Given the description of an element on the screen output the (x, y) to click on. 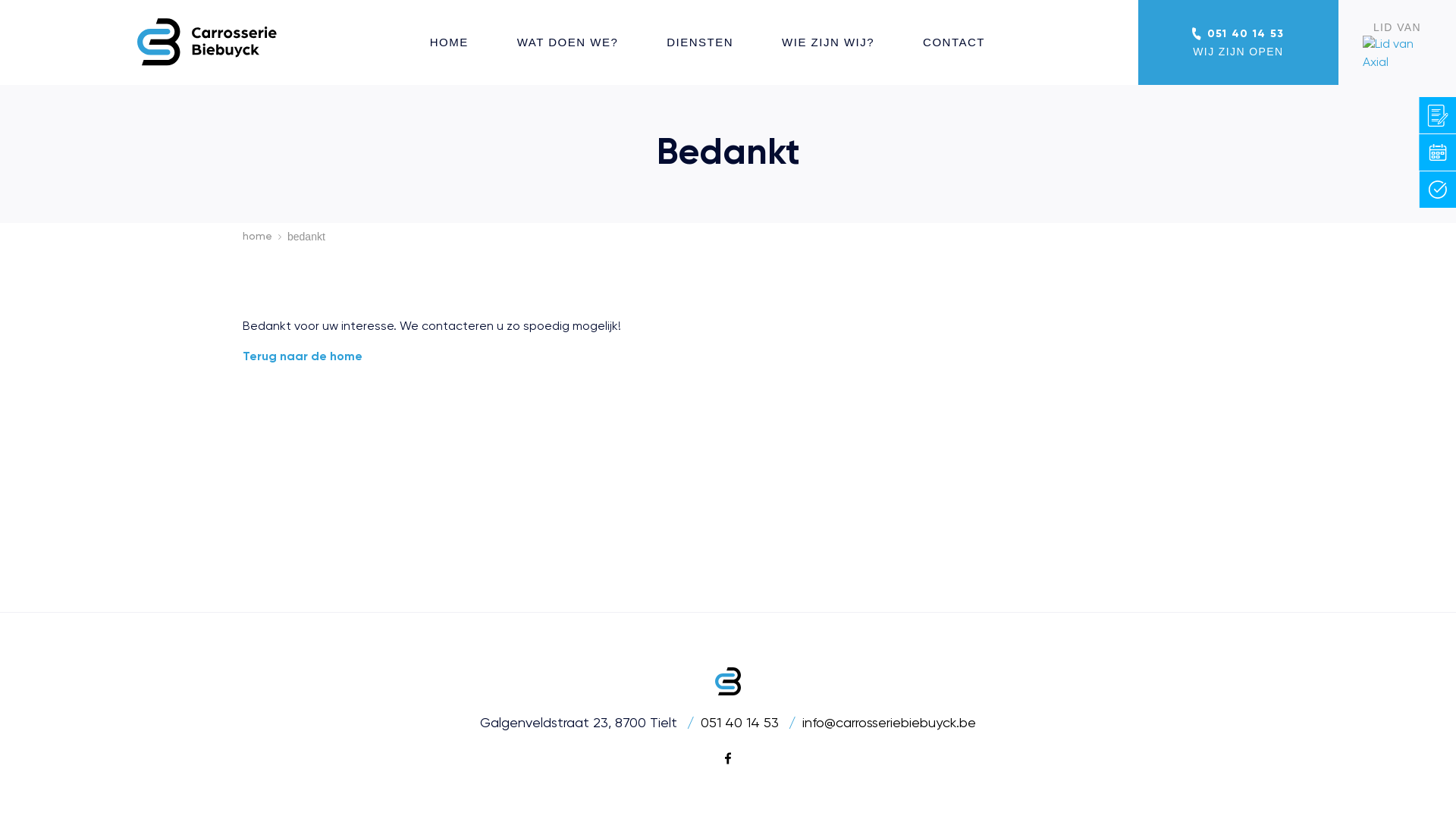
Terug naar de home Element type: text (302, 357)
home Element type: text (264, 236)
info@carrosseriebiebuyck.be Element type: text (888, 724)
WIE ZIJN WIJ? Element type: text (827, 42)
HOME Element type: text (448, 42)
051 40 14 53 Element type: text (751, 724)
WAT DOEN WE? Element type: text (567, 42)
051 40 14 53 Element type: text (1238, 33)
DIENSTEN Element type: text (699, 42)
CONTACT Element type: text (953, 42)
